Given the description of an element on the screen output the (x, y) to click on. 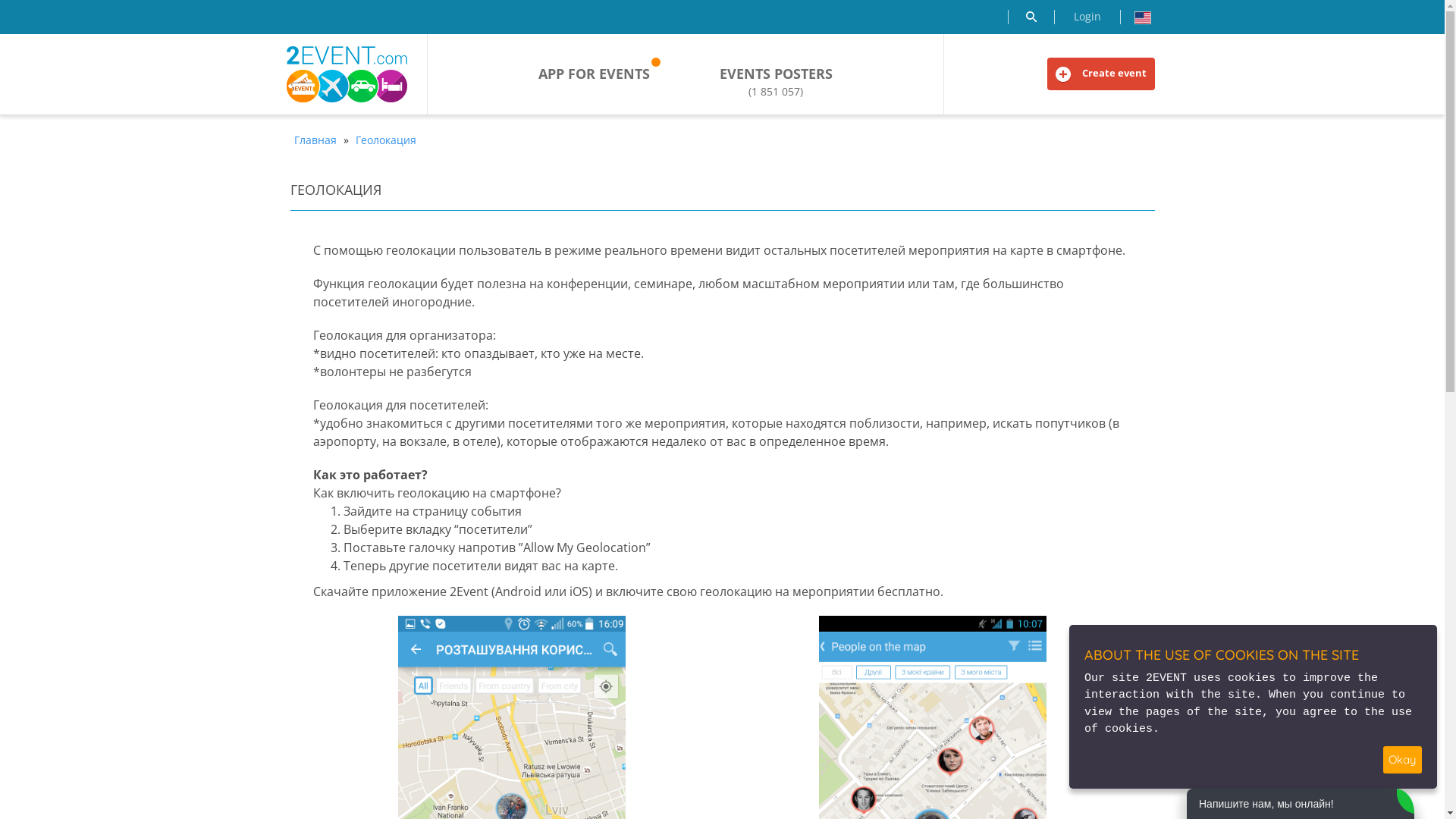
Search Element type: hover (1030, 16)
Create event Element type: text (1100, 73)
EVENTS POSTERS
(1 851 057) Element type: text (776, 81)
Login Element type: text (1087, 16)
APP FOR EVENTS Element type: text (593, 73)
Okay Element type: text (1402, 760)
